Given the description of an element on the screen output the (x, y) to click on. 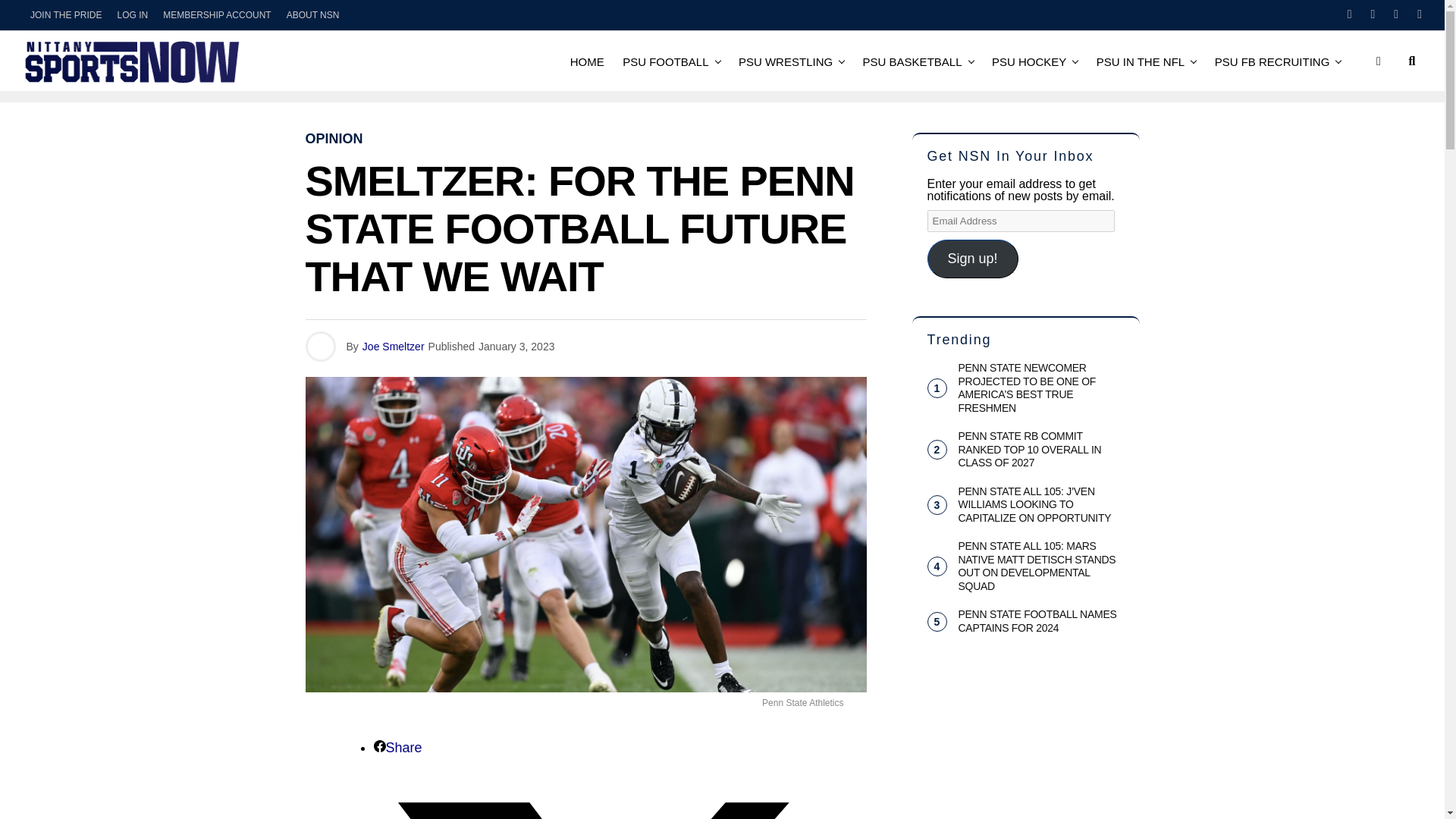
PSU FOOTBALL (665, 61)
LOG IN (132, 15)
MEMBERSHIP ACCOUNT (216, 15)
PSU WRESTLING (785, 61)
JOIN THE PRIDE (66, 15)
Share on Share (397, 747)
ABOUT NSN (313, 15)
Posts by Joe Smeltzer (393, 346)
